Given the description of an element on the screen output the (x, y) to click on. 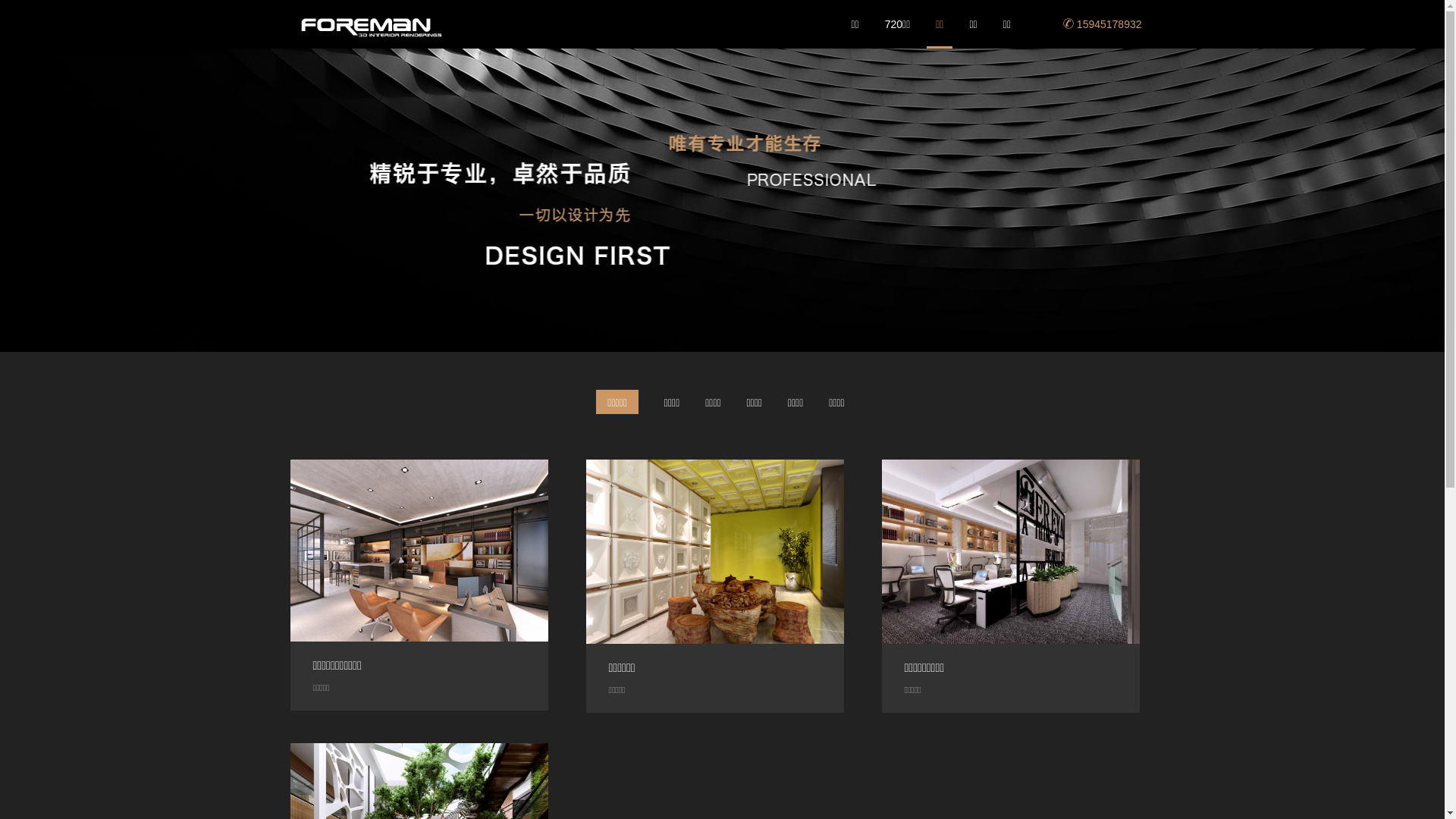
15945178932 Element type: text (1102, 24)
